Given the description of an element on the screen output the (x, y) to click on. 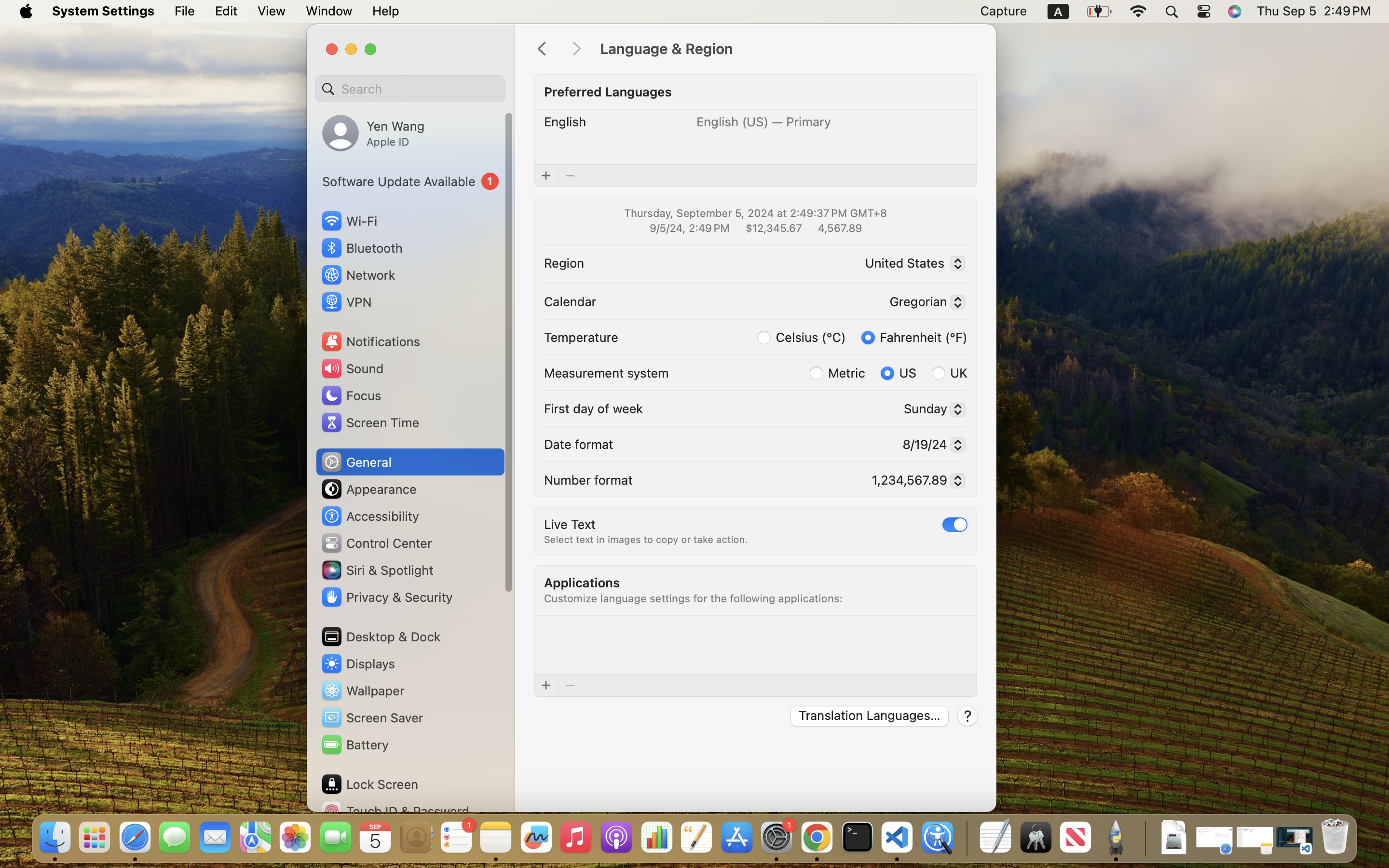
1 Element type: AXCheckBox (954, 523)
Notifications Element type: AXStaticText (370, 340)
English (US) — Primary Element type: AXStaticText (763, 121)
Gregorian Element type: AXPopUpButton (923, 303)
Network Element type: AXStaticText (357, 274)
